Given the description of an element on the screen output the (x, y) to click on. 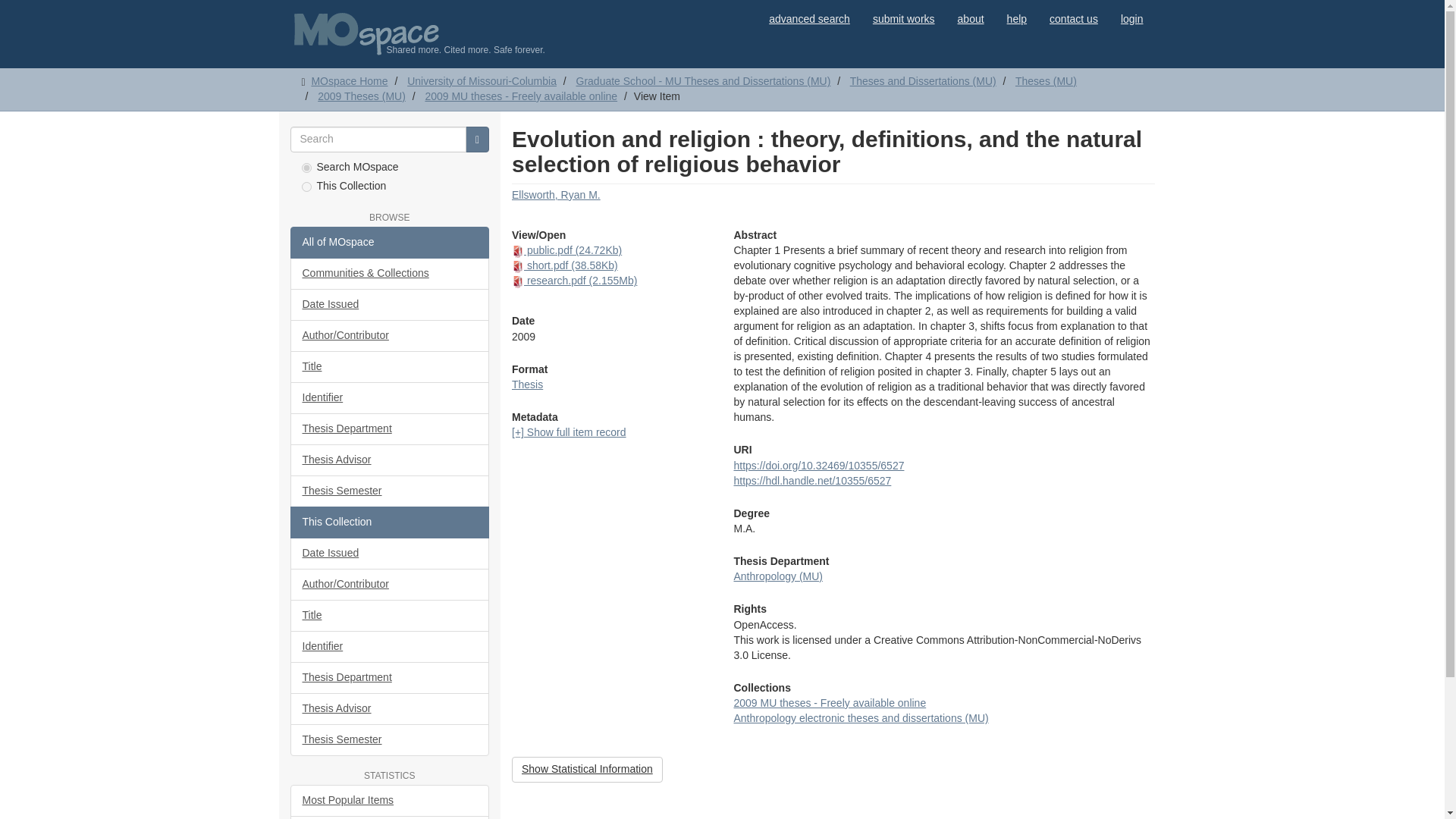
login (1131, 18)
Search (477, 139)
All of MOspace (389, 242)
Date Issued (389, 305)
Thesis Department (389, 429)
PDF file (518, 251)
Thesis Advisor (389, 459)
help (1016, 18)
PDF file (518, 282)
2009 MU theses - Freely available online (521, 96)
